Given the description of an element on the screen output the (x, y) to click on. 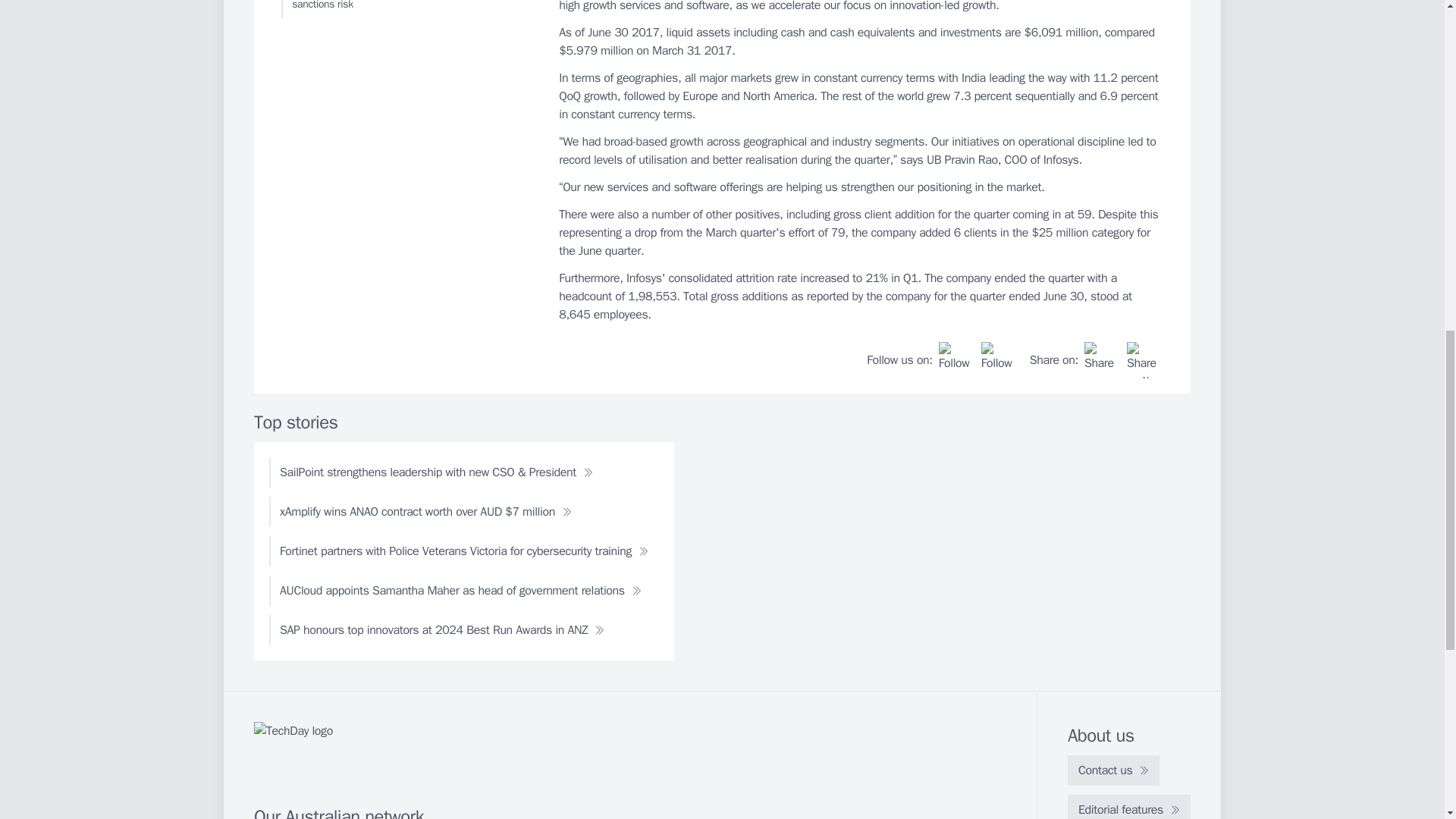
SAP honours top innovators at 2024 Best Run Awards in ANZ (441, 630)
